Given the description of an element on the screen output the (x, y) to click on. 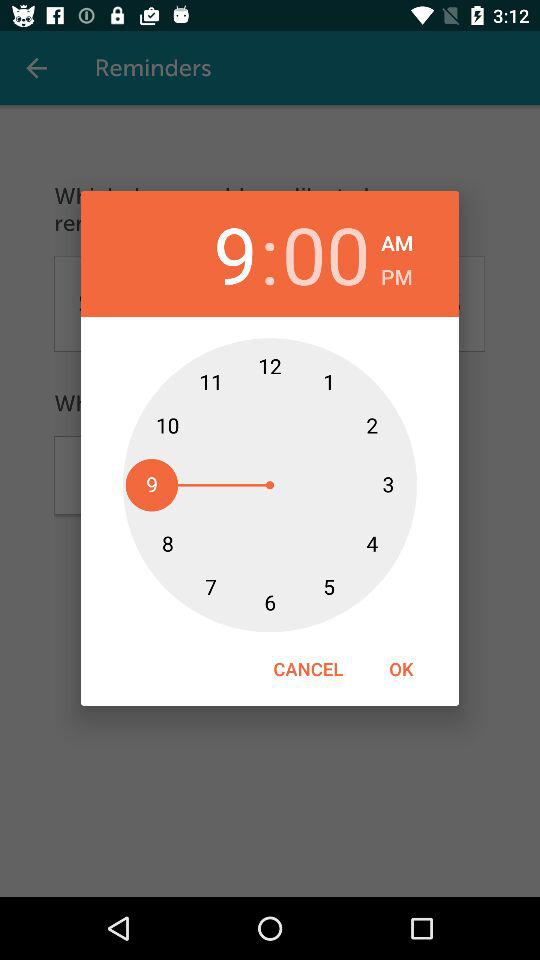
turn on am icon (397, 240)
